Given the description of an element on the screen output the (x, y) to click on. 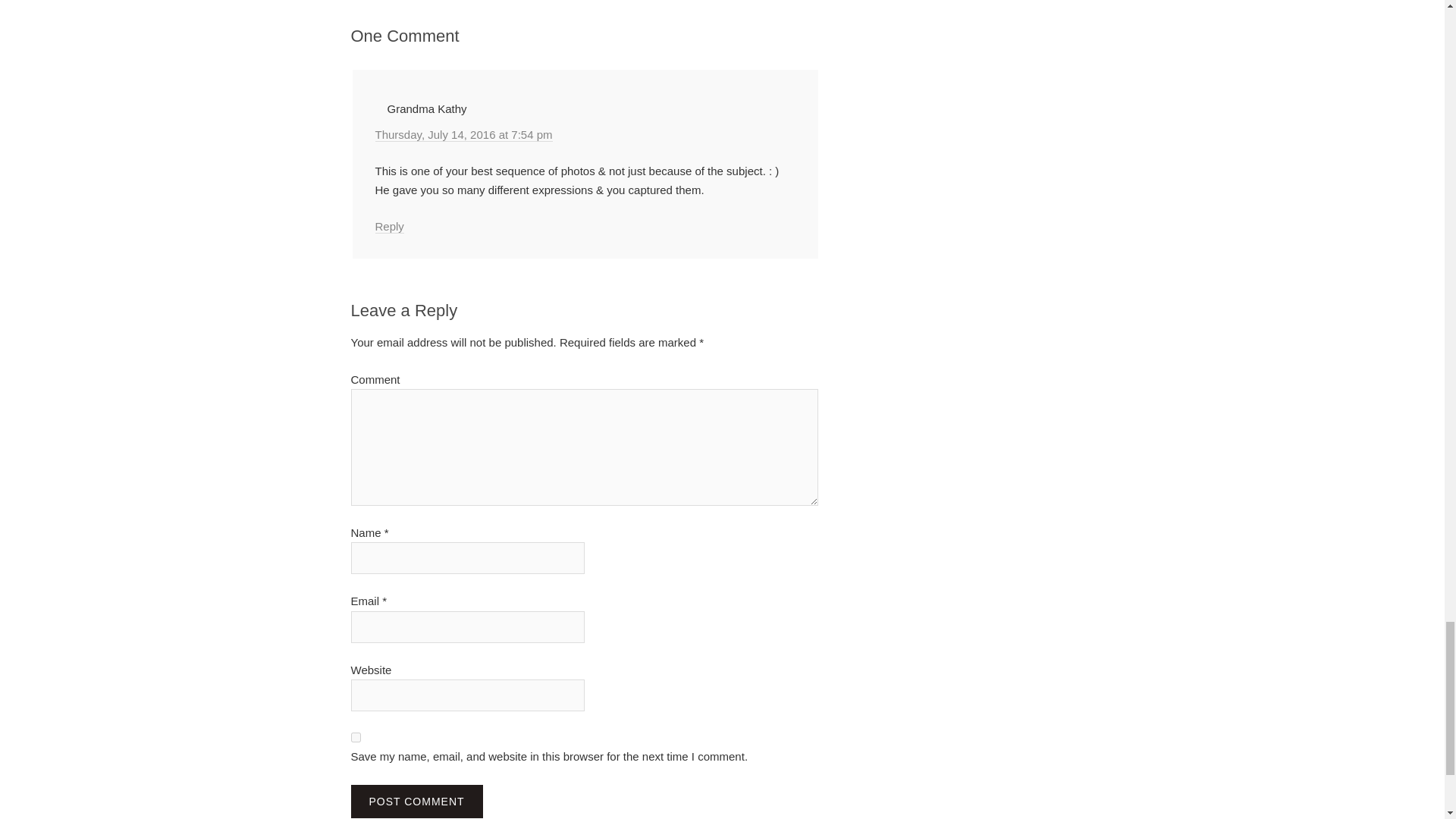
Reply (388, 226)
Thursday, July 14, 2016, 7:54 pm (462, 134)
Post Comment (415, 801)
yes (354, 737)
Post Comment (415, 801)
Thursday, July 14, 2016 at 7:54 pm (462, 134)
